Given the description of an element on the screen output the (x, y) to click on. 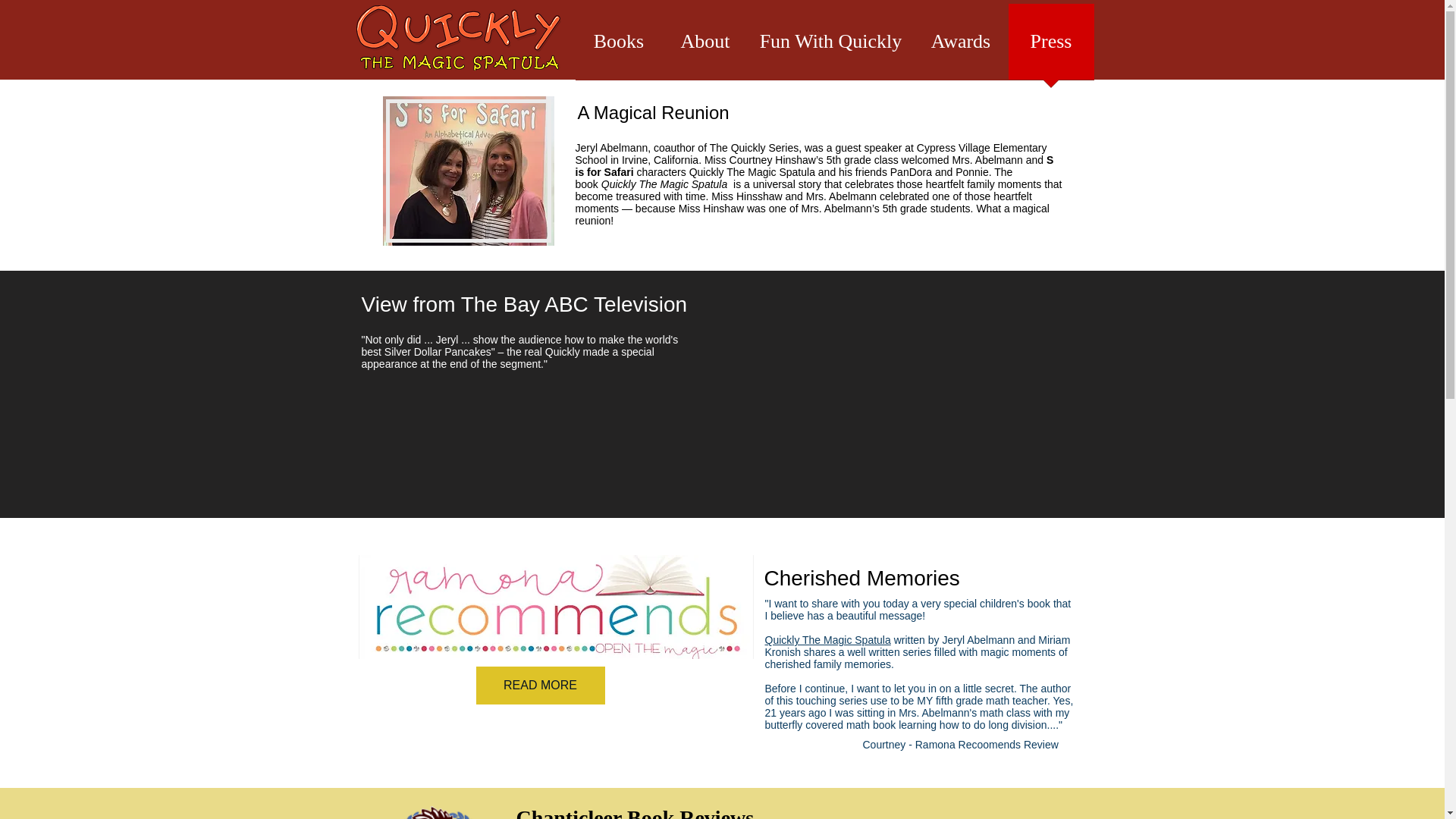
Books (618, 46)
External YouTube (901, 397)
Awards (959, 46)
Press (1051, 46)
Quickly The Magic Spatula (826, 639)
Fun With Quickly (830, 46)
READ MORE (540, 685)
About (705, 46)
